Given the description of an element on the screen output the (x, y) to click on. 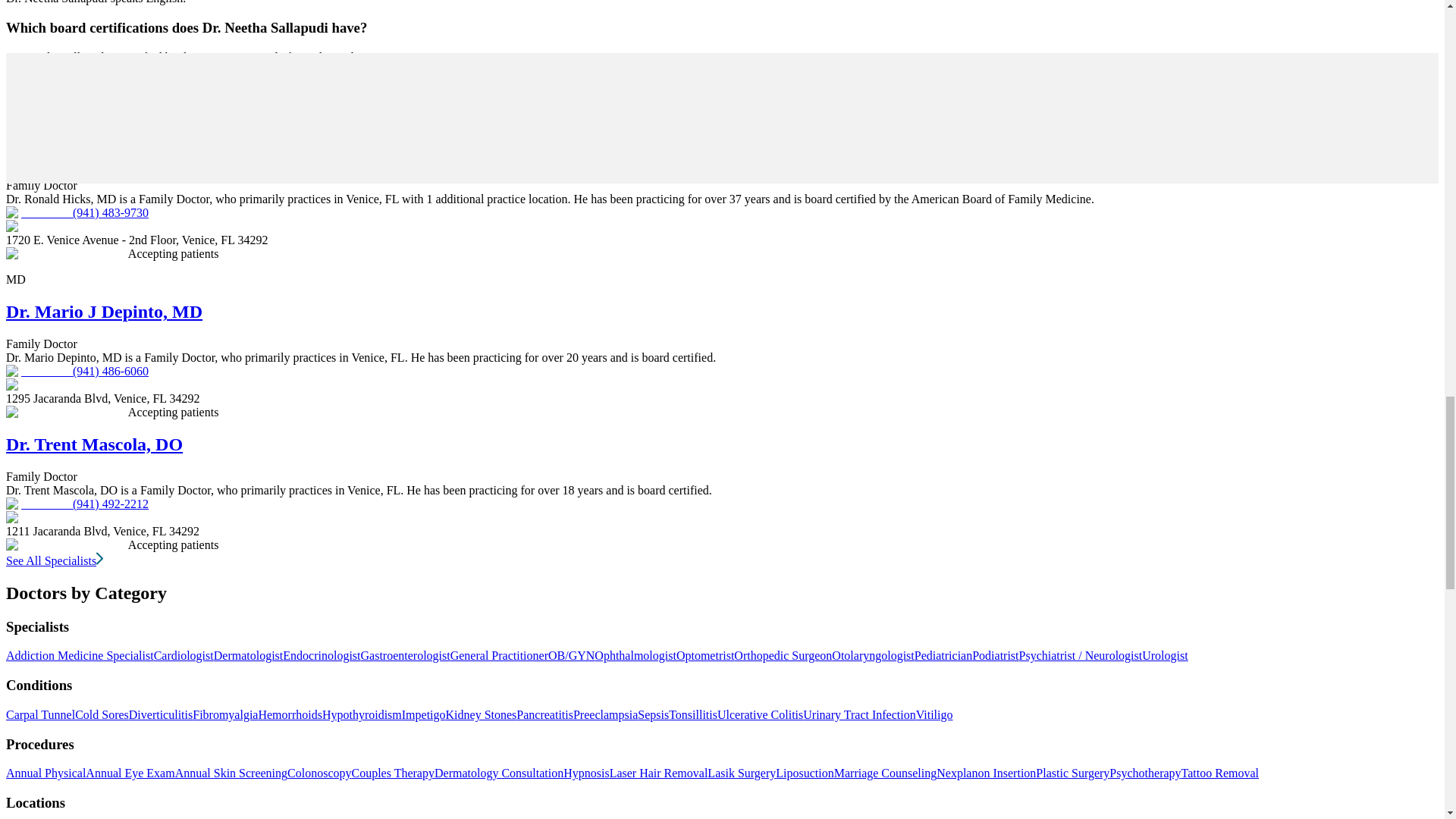
Optometrist (705, 655)
Otolaryngologist (872, 655)
Podiatrist (994, 655)
Cardiologist (184, 655)
General Practitioner (498, 655)
See All Specialists (54, 560)
Dermatologist (248, 655)
Gastroenterologist (405, 655)
Pediatrician (943, 655)
Endocrinologist (320, 655)
